Given the description of an element on the screen output the (x, y) to click on. 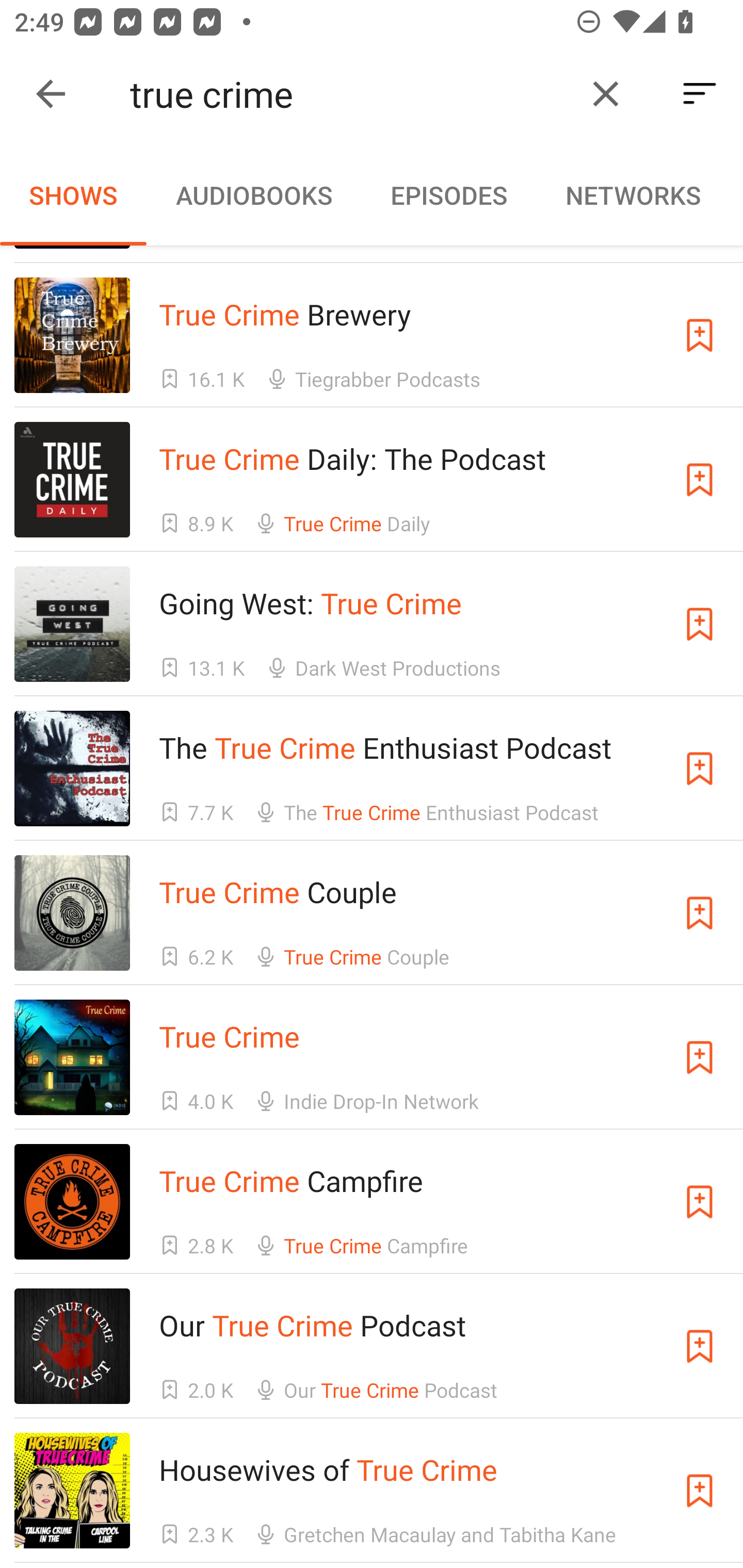
Collapse (50, 93)
Clear query (605, 93)
Sort By (699, 93)
true crime (349, 94)
SHOWS (73, 195)
AUDIOBOOKS (253, 195)
EPISODES (448, 195)
NETWORKS (632, 195)
Subscribe (699, 335)
Subscribe (699, 479)
Subscribe (699, 624)
Subscribe (699, 768)
Subscribe (699, 912)
Subscribe (699, 1057)
Subscribe (699, 1201)
Subscribe (699, 1345)
Subscribe (699, 1491)
